Given the description of an element on the screen output the (x, y) to click on. 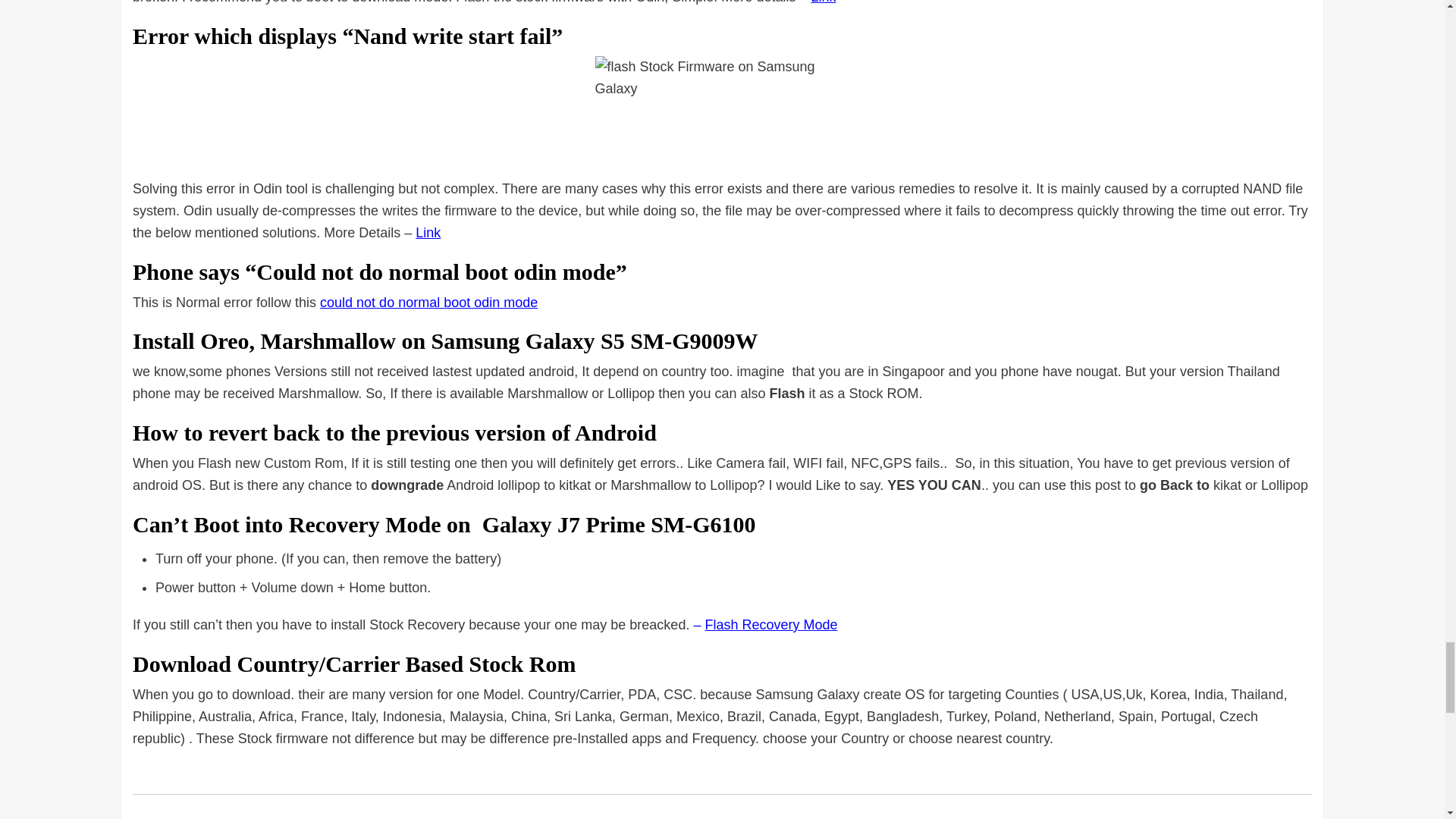
Link (822, 2)
could not do normal boot odin mode (428, 302)
Flash Recovery Mode (770, 624)
Link (427, 232)
